Given the description of an element on the screen output the (x, y) to click on. 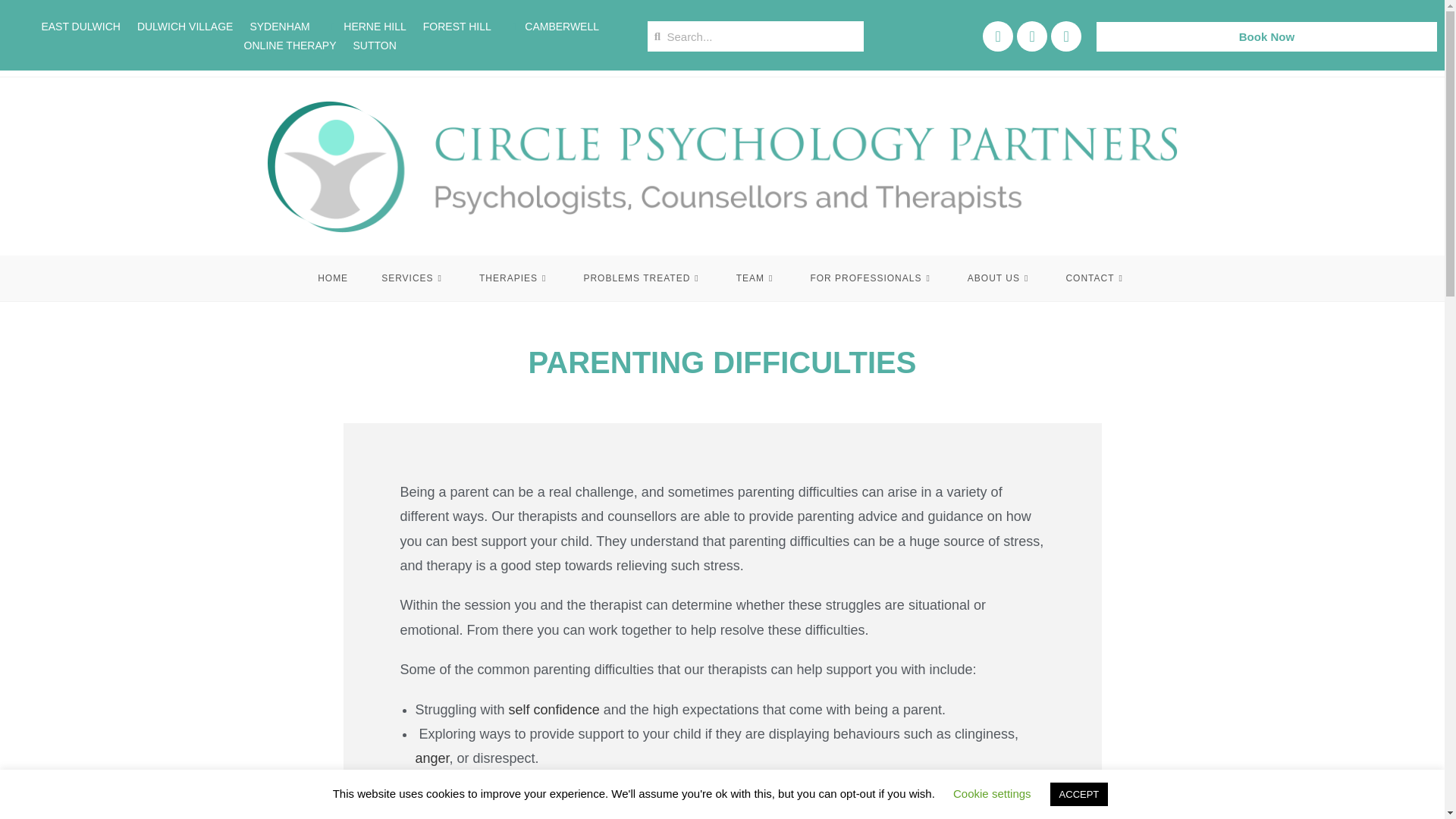
HOME (333, 278)
THERAPIES (514, 278)
SUTTON (374, 45)
EAST DULWICH (80, 26)
DULWICH VILLAGE (184, 26)
HERNE HILL (366, 26)
SYDENHAM (278, 26)
SERVICES (414, 278)
FOREST HILL (457, 26)
Book Now (1266, 36)
CAMBERWELL (553, 26)
ONLINE THERAPY (290, 45)
